Given the description of an element on the screen output the (x, y) to click on. 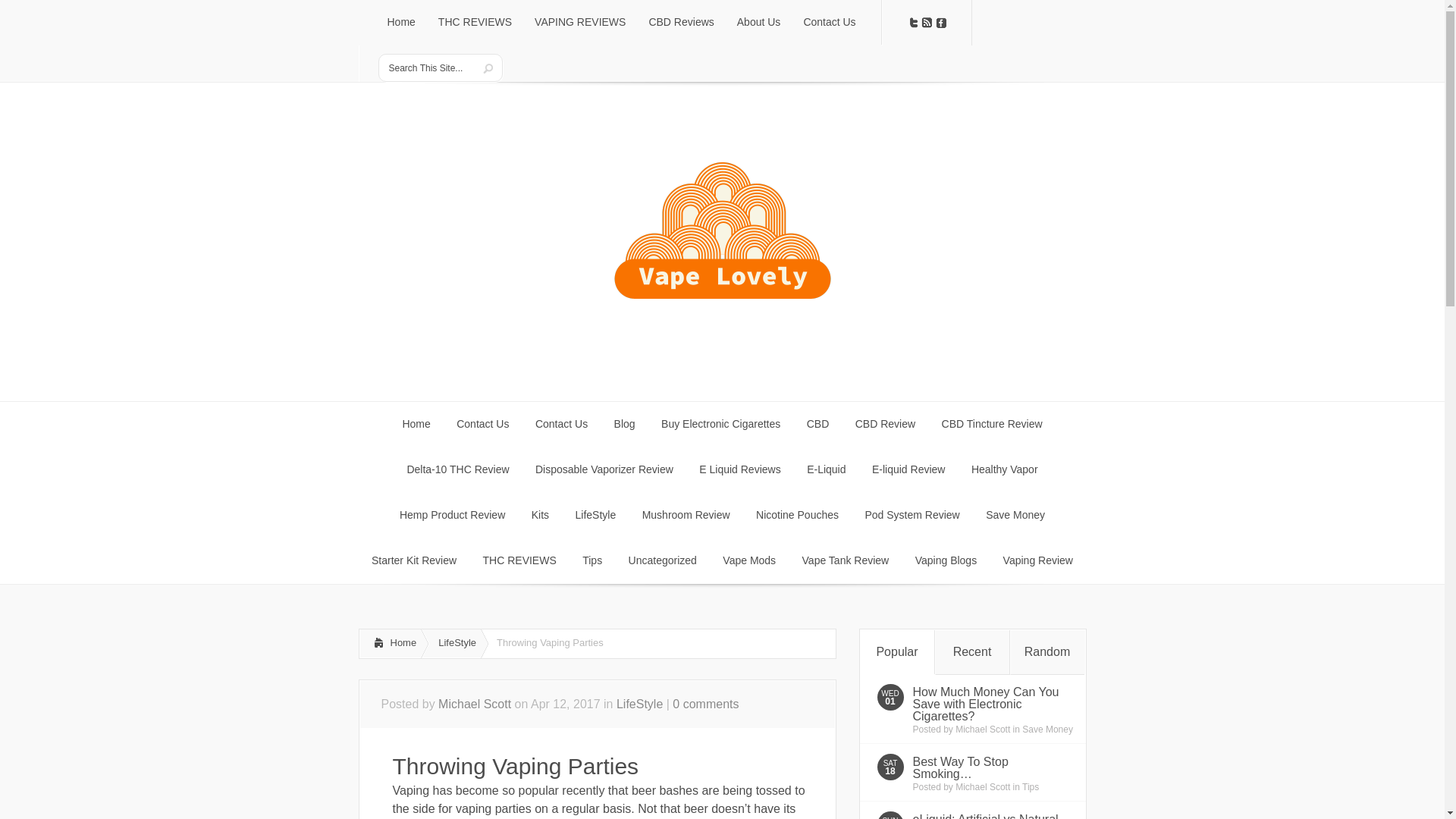
Posts by Michael Scott (982, 787)
Contact Us (829, 22)
Home (400, 22)
Posts by Michael Scott (474, 703)
Posts by Michael Scott (982, 728)
Search This Site... (427, 68)
About Us (758, 22)
THC REVIEWS (474, 22)
VAPING REVIEWS (579, 22)
CBD Reviews (681, 22)
